Given the description of an element on the screen output the (x, y) to click on. 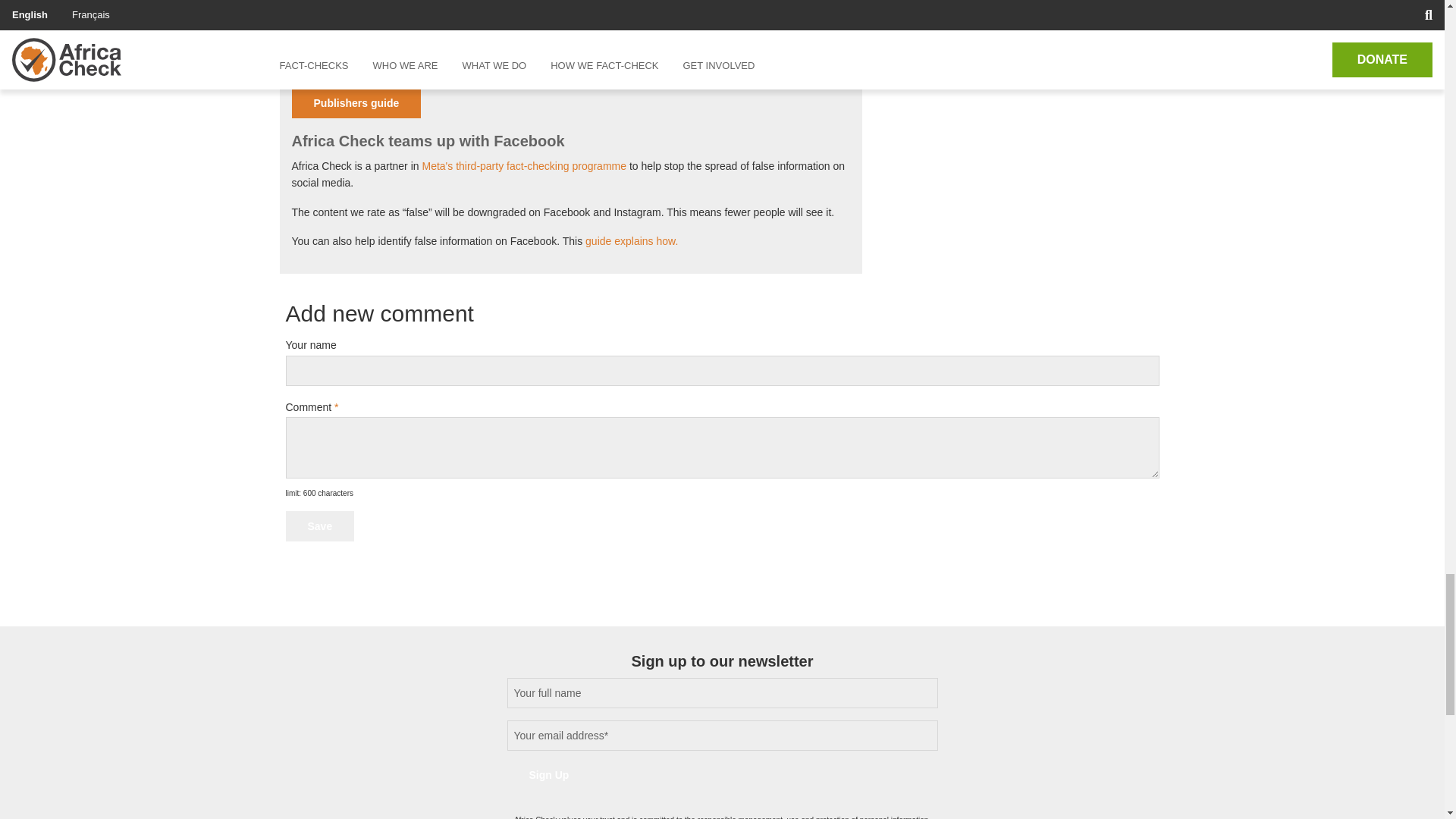
Save (319, 526)
Sign Up (548, 775)
